Given the description of an element on the screen output the (x, y) to click on. 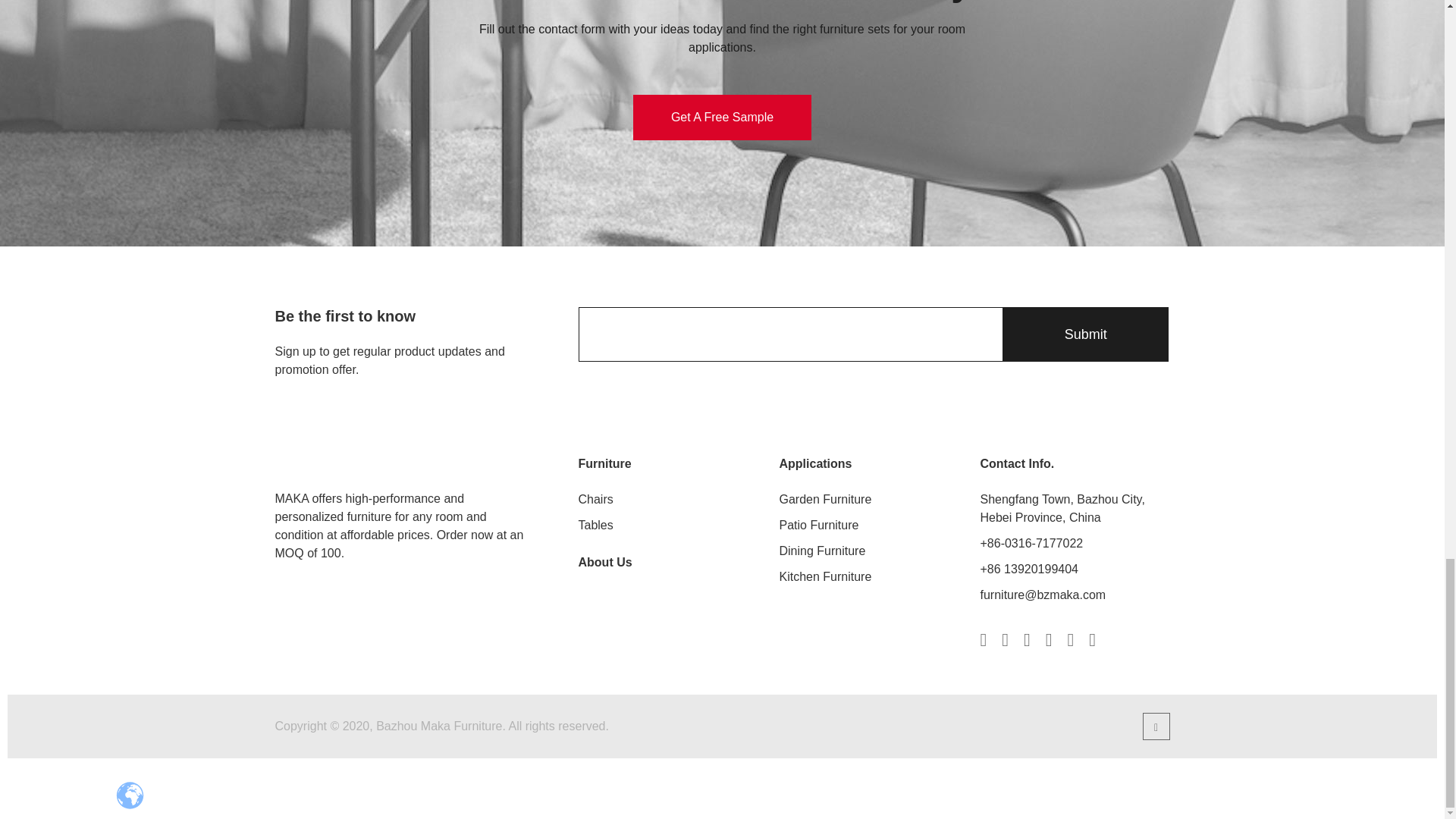
Submit (1085, 334)
Furniture (604, 464)
Submit (1085, 334)
Get A Free Sample (721, 117)
